Given the description of an element on the screen output the (x, y) to click on. 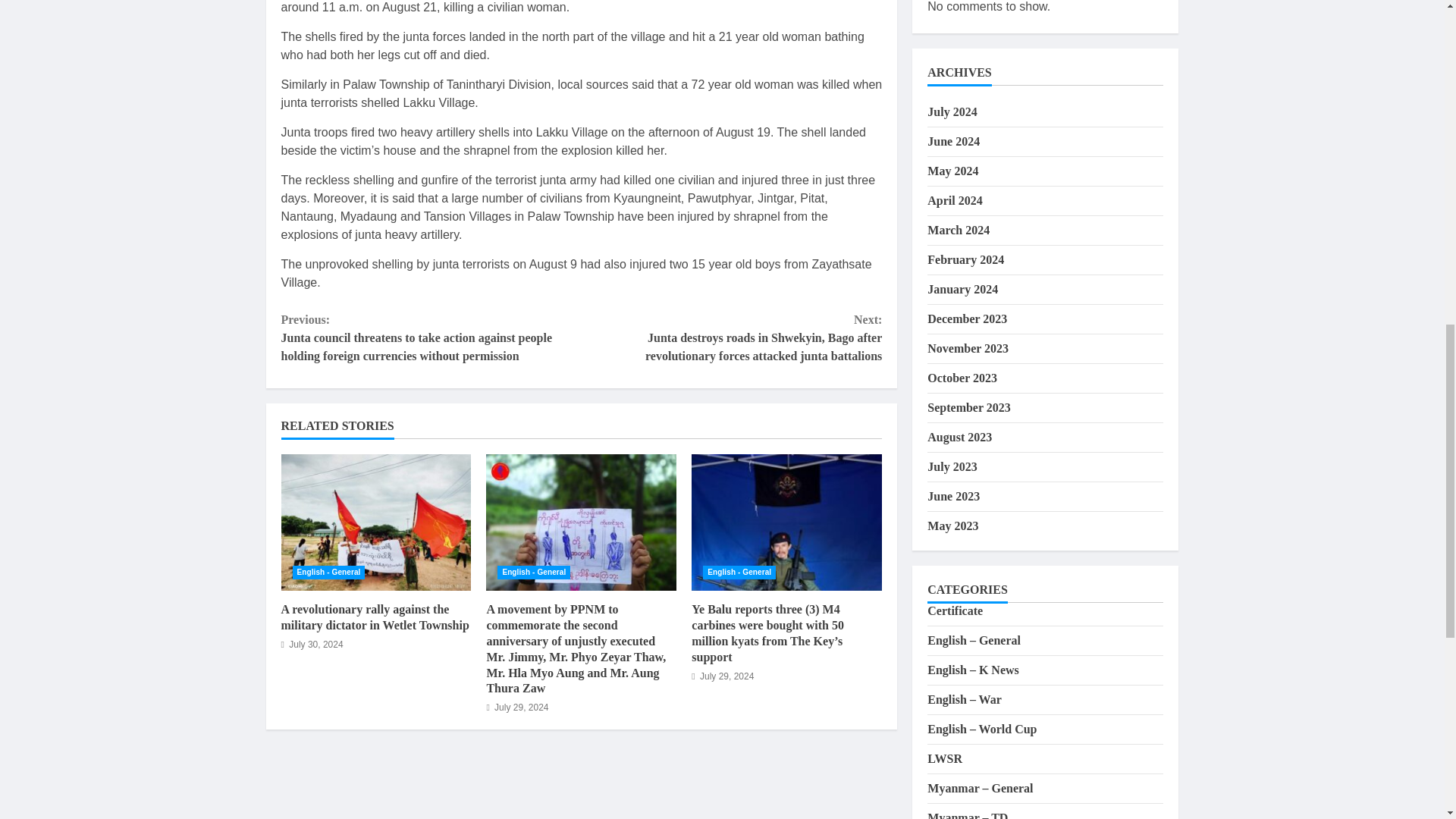
English - General (328, 572)
English - General (533, 572)
February 2024 (965, 259)
January 2024 (962, 288)
May 2024 (952, 170)
English - General (739, 572)
June 2024 (953, 141)
March 2024 (958, 229)
July 2024 (951, 111)
